Given the description of an element on the screen output the (x, y) to click on. 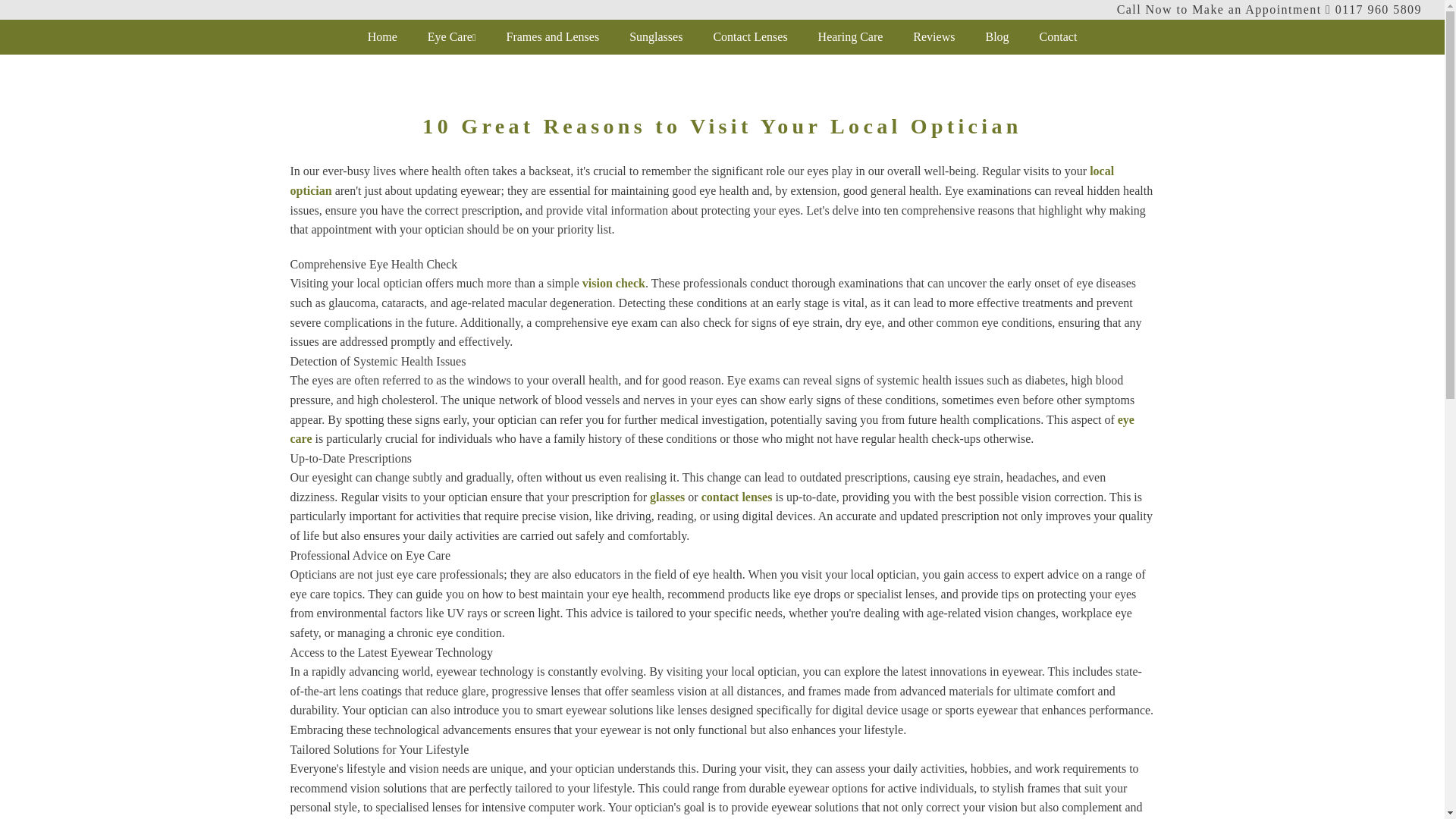
vision check (613, 282)
0117 960 5809 (1378, 9)
local optician (701, 180)
Contact (1059, 36)
Reviews (933, 36)
contact lenses (737, 496)
Contact Lenses (749, 36)
Blog (996, 36)
eye care (711, 429)
Frames and Lenses (553, 36)
